Given the description of an element on the screen output the (x, y) to click on. 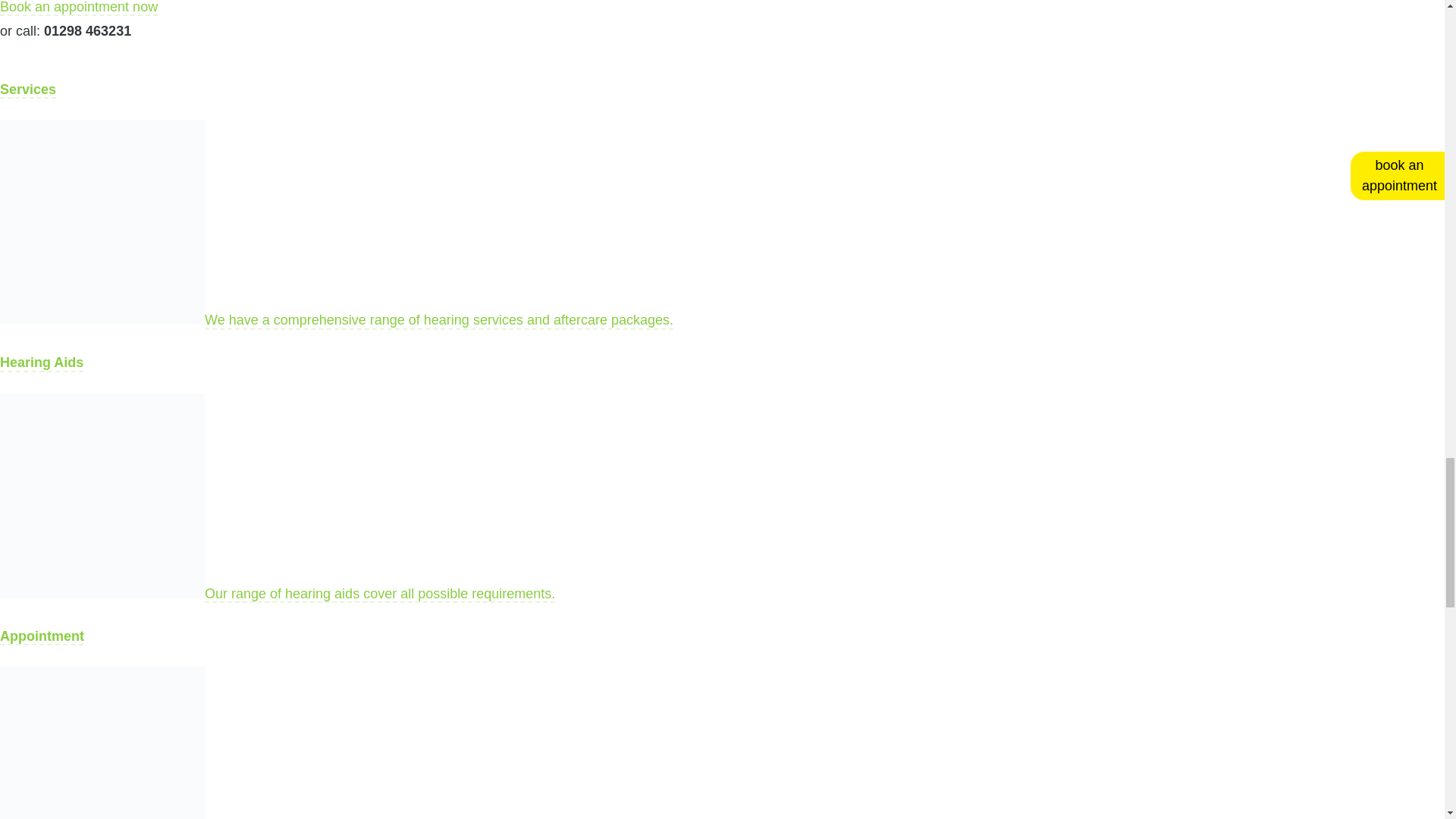
Book an appointment now (78, 7)
Book an Appointment now (78, 7)
